Given the description of an element on the screen output the (x, y) to click on. 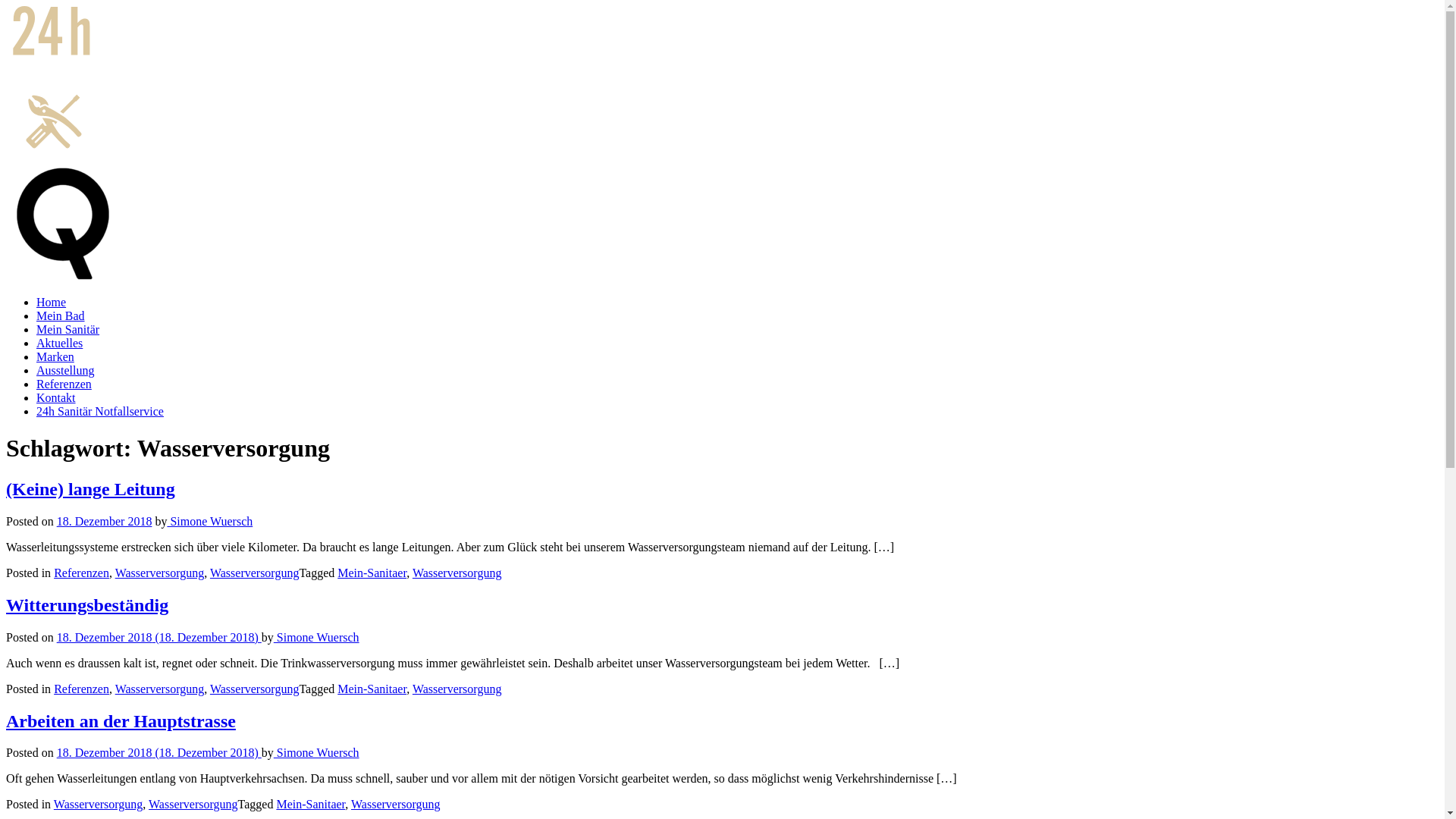
Wasserversorgung Element type: text (254, 688)
Wasserversorgung Element type: text (395, 803)
18. Dezember 2018 (18. Dezember 2018) Element type: text (158, 636)
Wasserversorgung Element type: text (457, 688)
Arbeiten an der Hauptstrasse Element type: text (120, 721)
Wasserversorgung Element type: text (254, 572)
Aktuelles Element type: text (59, 342)
18. Dezember 2018 Element type: text (104, 520)
Mein-Sanitaer Element type: text (371, 688)
Wasserversorgung Element type: text (193, 803)
Mein-Sanitaer Element type: text (310, 803)
Home Element type: text (50, 301)
(Keine) lange Leitung Element type: text (90, 488)
18. Dezember 2018 (18. Dezember 2018) Element type: text (158, 752)
Kontakt Element type: text (55, 397)
Simone Wuersch Element type: text (209, 520)
Referenzen Element type: text (81, 572)
Marken Element type: text (55, 356)
Simone Wuersch Element type: text (316, 752)
Wasserversorgung Element type: text (457, 572)
Ausstellung Element type: text (65, 370)
Mein-Sanitaer Element type: text (371, 572)
Referenzen Element type: text (63, 383)
Referenzen Element type: text (81, 688)
Wasserversorgung Element type: text (159, 572)
Mein Bad Element type: text (60, 315)
Wasserversorgung Element type: text (159, 688)
Simone Wuersch Element type: text (316, 636)
Wasserversorgung Element type: text (98, 803)
